Given the description of an element on the screen output the (x, y) to click on. 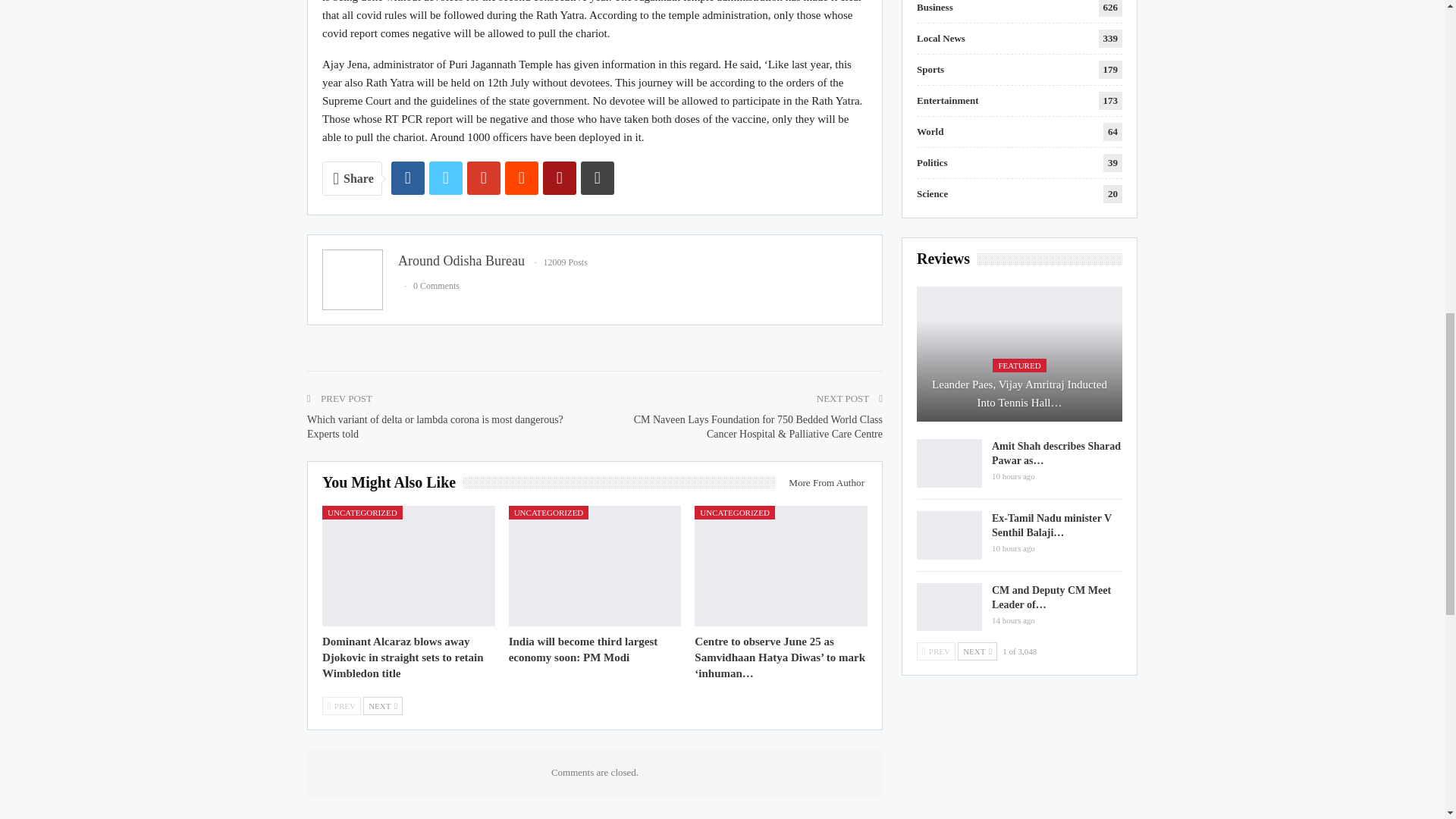
India will become third largest economy soon: PM Modi (594, 566)
Around Odisha Bureau (460, 260)
Previous (341, 705)
Next (382, 705)
India will become third largest economy soon: PM Modi (583, 649)
You Might Also Like (392, 482)
